Given the description of an element on the screen output the (x, y) to click on. 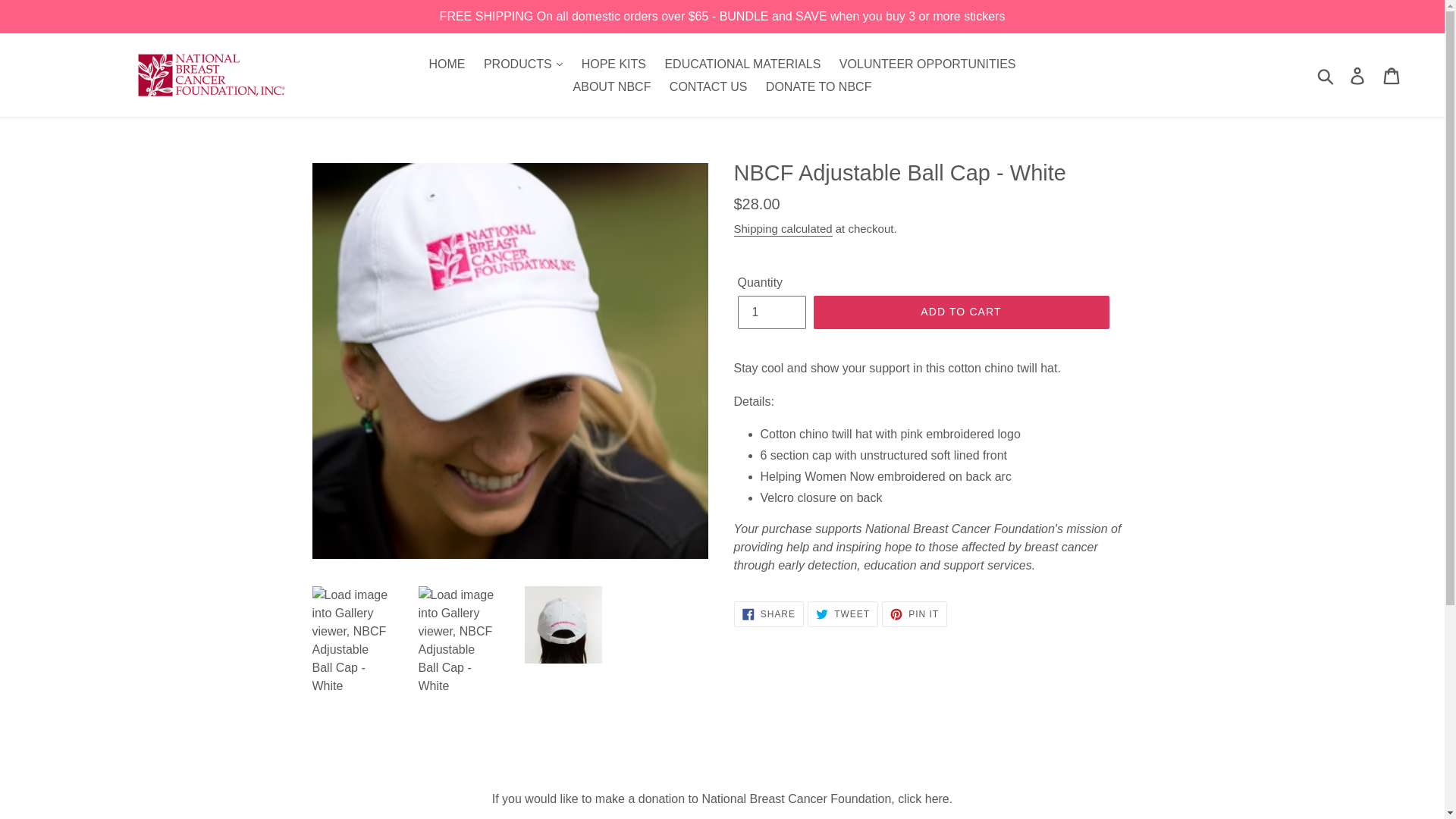
EDUCATIONAL MATERIALS (742, 64)
Cart (1392, 75)
HOME (445, 64)
DONATE TO NBCF (818, 87)
ABOUT NBCF (612, 87)
1 (770, 312)
Log in (1357, 75)
CONTACT US (708, 87)
VOLUNTEER OPPORTUNITIES (927, 64)
HOPE KITS (613, 64)
